Given the description of an element on the screen output the (x, y) to click on. 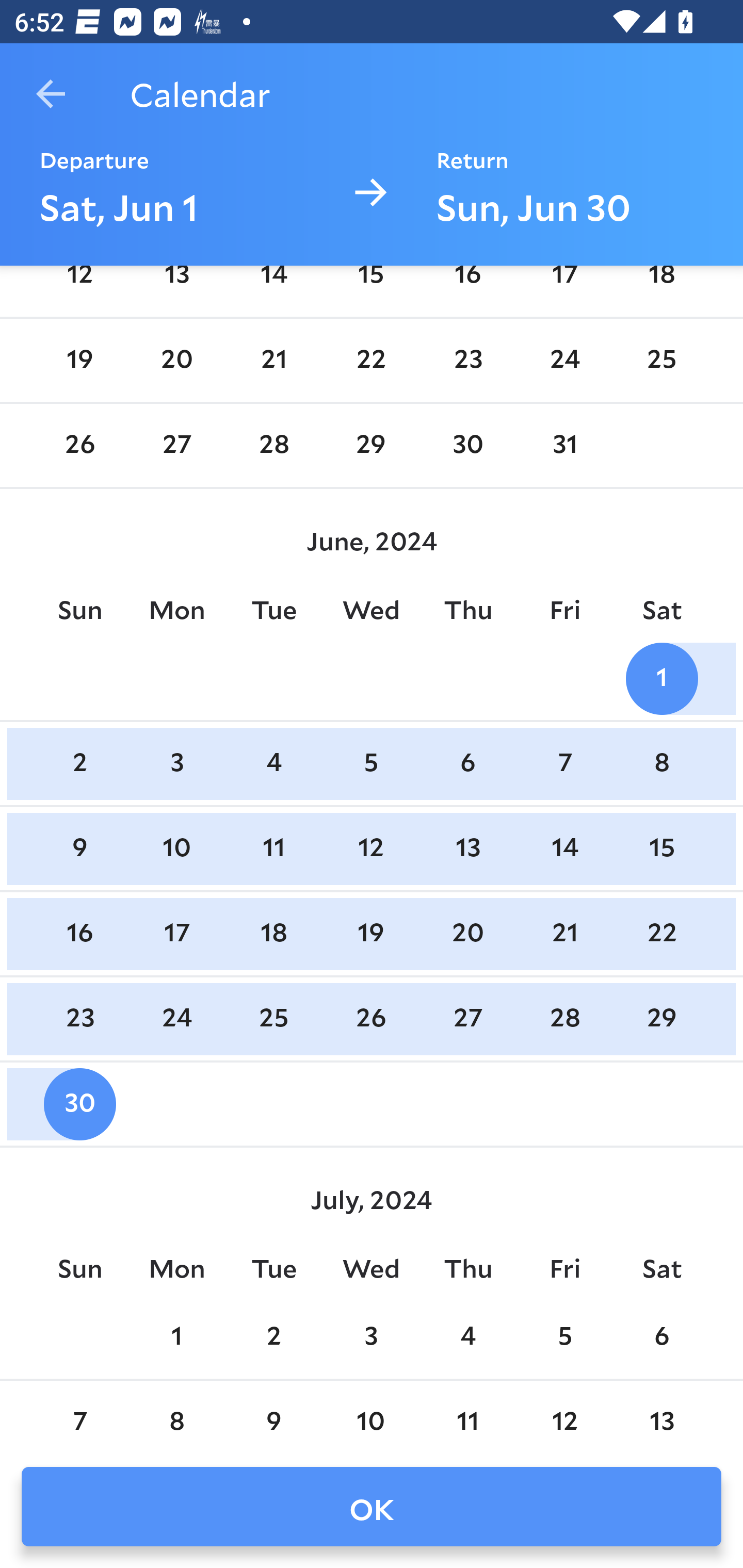
Navigate up (50, 93)
12 (79, 288)
13 (177, 288)
14 (273, 288)
15 (371, 288)
16 (467, 288)
17 (565, 288)
18 (661, 288)
19 (79, 360)
20 (177, 360)
21 (273, 360)
22 (371, 360)
23 (467, 360)
24 (565, 360)
25 (661, 360)
26 (79, 445)
27 (177, 445)
28 (273, 445)
29 (371, 445)
30 (467, 445)
31 (565, 445)
1 (661, 678)
2 (79, 763)
3 (177, 763)
4 (273, 763)
5 (371, 763)
6 (467, 763)
7 (565, 763)
8 (661, 763)
9 (79, 848)
10 (177, 848)
11 (273, 848)
12 (371, 848)
13 (467, 848)
14 (565, 848)
15 (661, 848)
16 (79, 934)
17 (177, 934)
18 (273, 934)
19 (371, 934)
20 (467, 934)
21 (565, 934)
22 (661, 934)
23 (79, 1019)
24 (177, 1019)
25 (273, 1019)
26 (371, 1019)
27 (467, 1019)
28 (565, 1019)
29 (661, 1019)
